Given the description of an element on the screen output the (x, y) to click on. 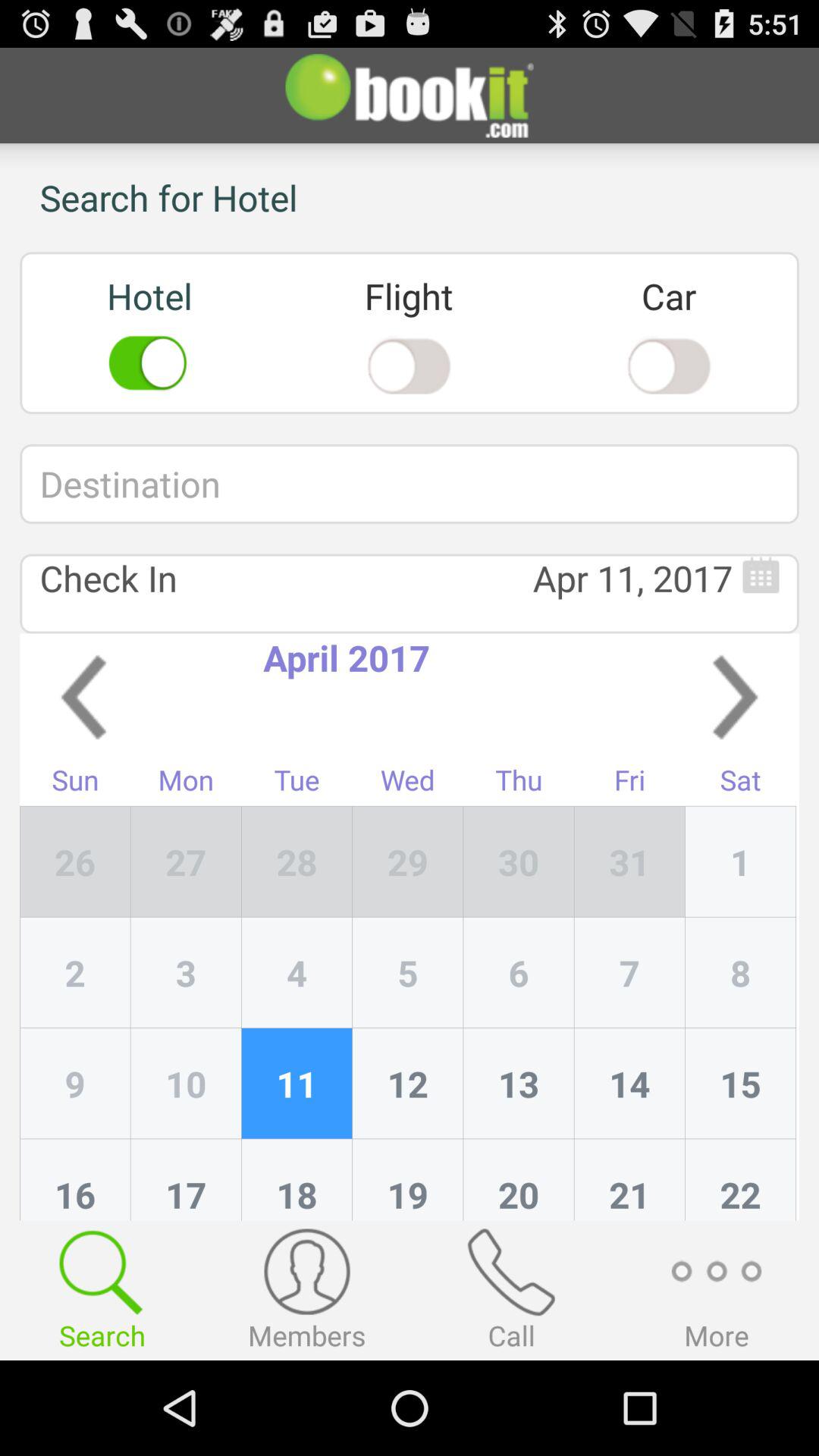
select the icon to the left of the 12 (296, 1179)
